Given the description of an element on the screen output the (x, y) to click on. 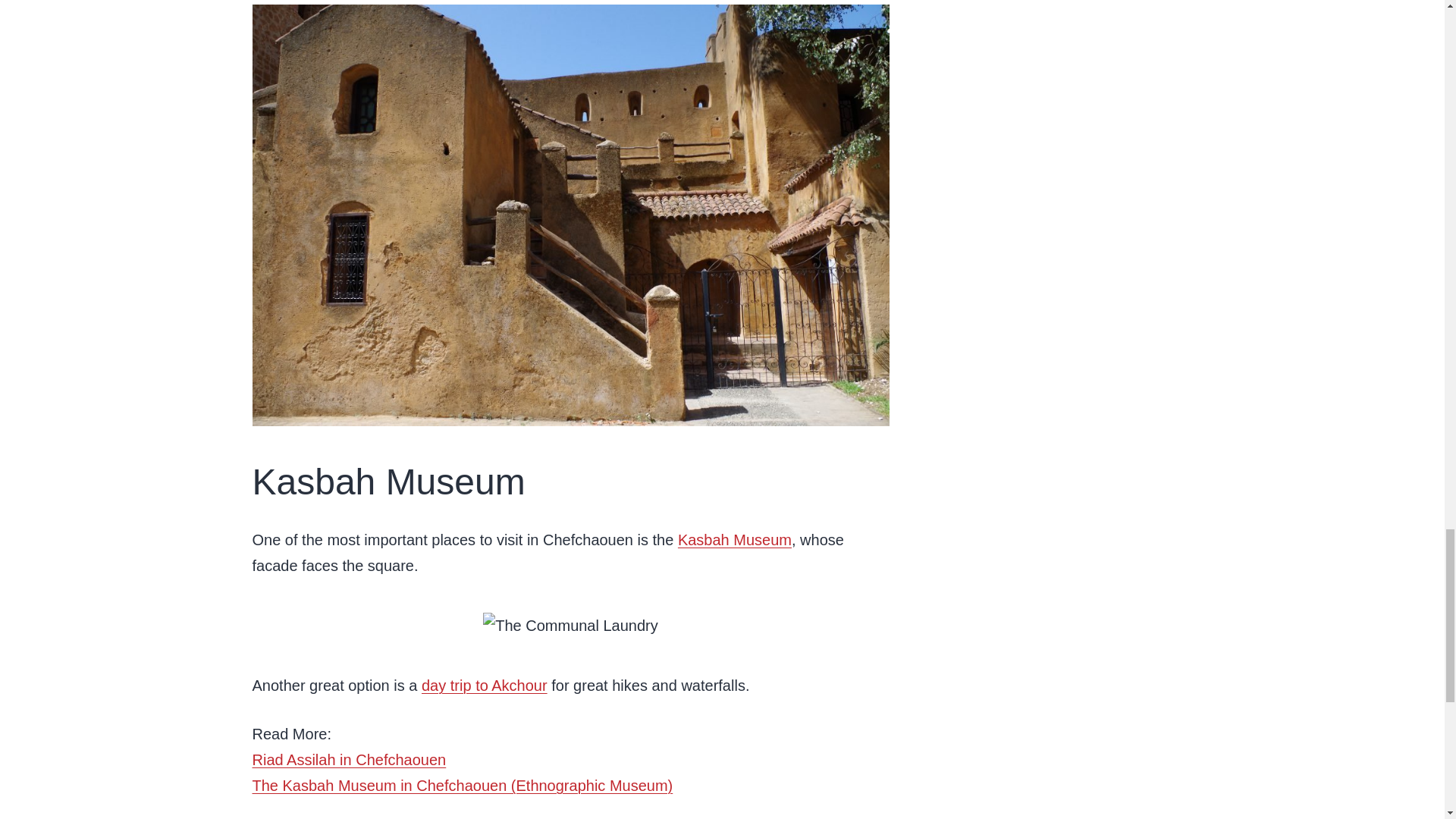
day trip to Akchour (484, 685)
Kasbah Museum (735, 539)
Riad Assilah in Chefchaouen (348, 759)
